Given the description of an element on the screen output the (x, y) to click on. 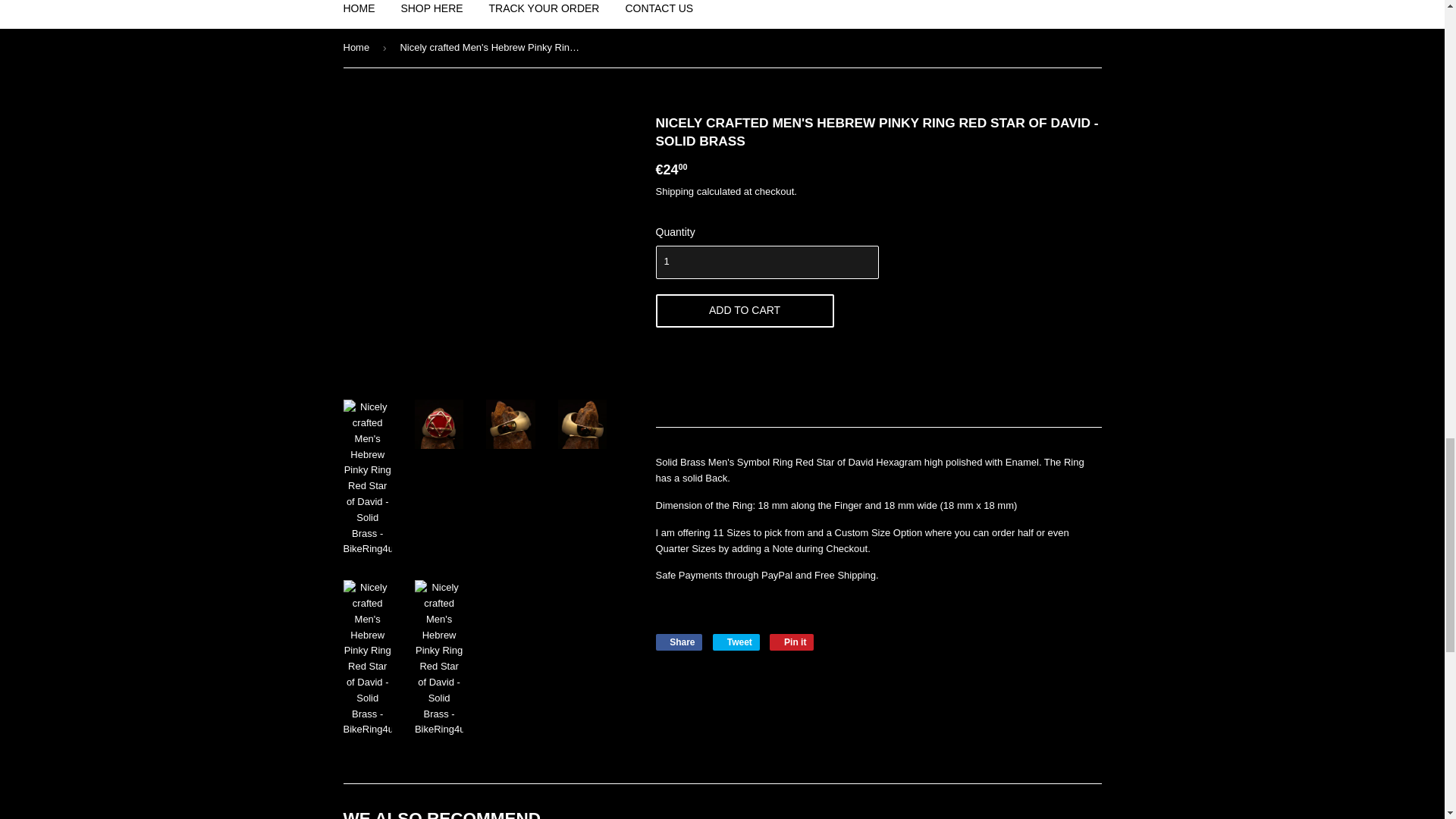
1 (766, 262)
SHOP HERE (431, 13)
Back to the frontpage (358, 47)
Shipping (674, 191)
CONTACT US (736, 641)
TRACK YOUR ORDER (658, 13)
HOME (544, 13)
ADD TO CART (678, 641)
Share on Facebook (359, 13)
Home (743, 310)
Pin on Pinterest (678, 641)
Tweet on Twitter (358, 47)
